Given the description of an element on the screen output the (x, y) to click on. 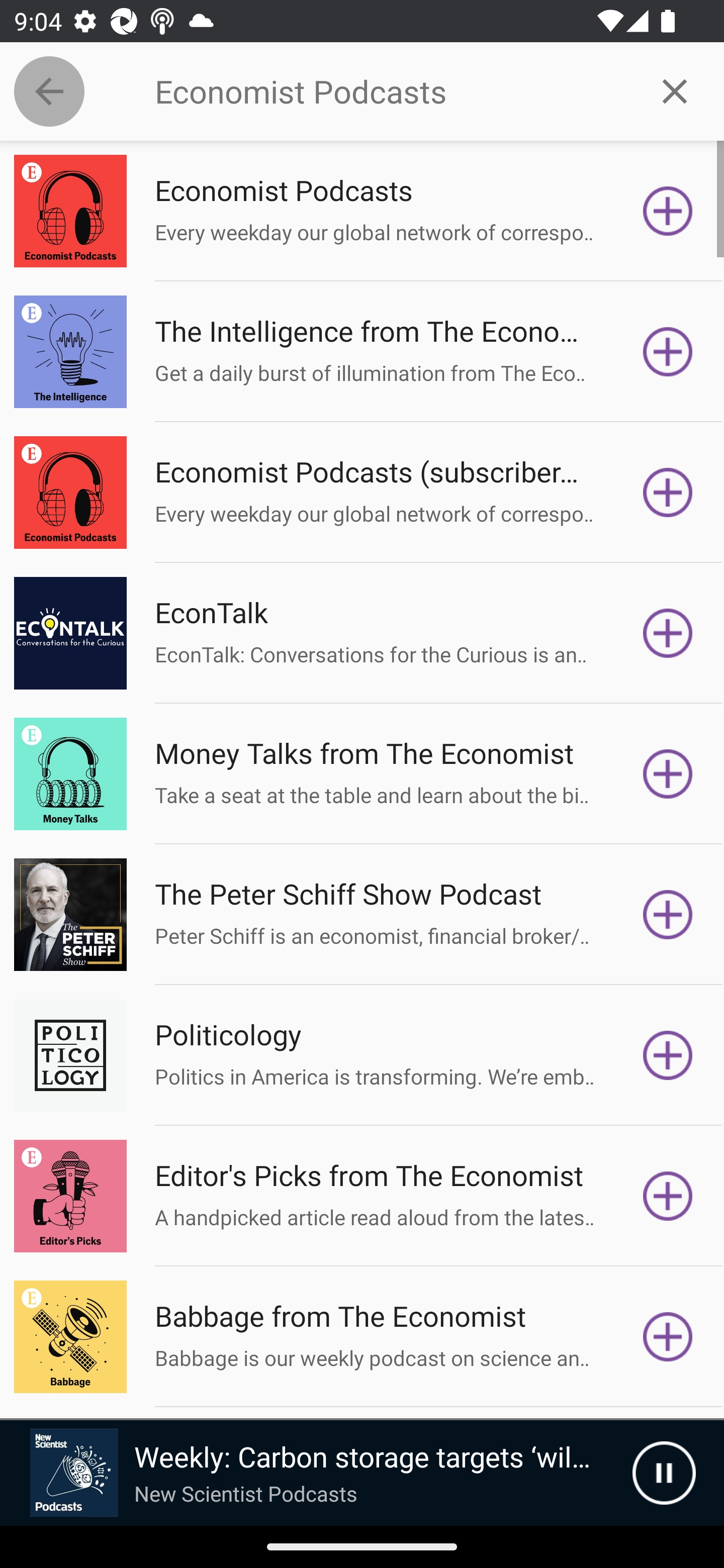
Collapse (49, 91)
Clear query (674, 90)
Economist Podcasts (389, 91)
Subscribe (667, 211)
Subscribe (667, 350)
Subscribe (667, 491)
Subscribe (667, 633)
Subscribe (667, 773)
Subscribe (667, 913)
Subscribe (667, 1054)
Subscribe (667, 1195)
Subscribe (667, 1336)
Pause (663, 1472)
